Given the description of an element on the screen output the (x, y) to click on. 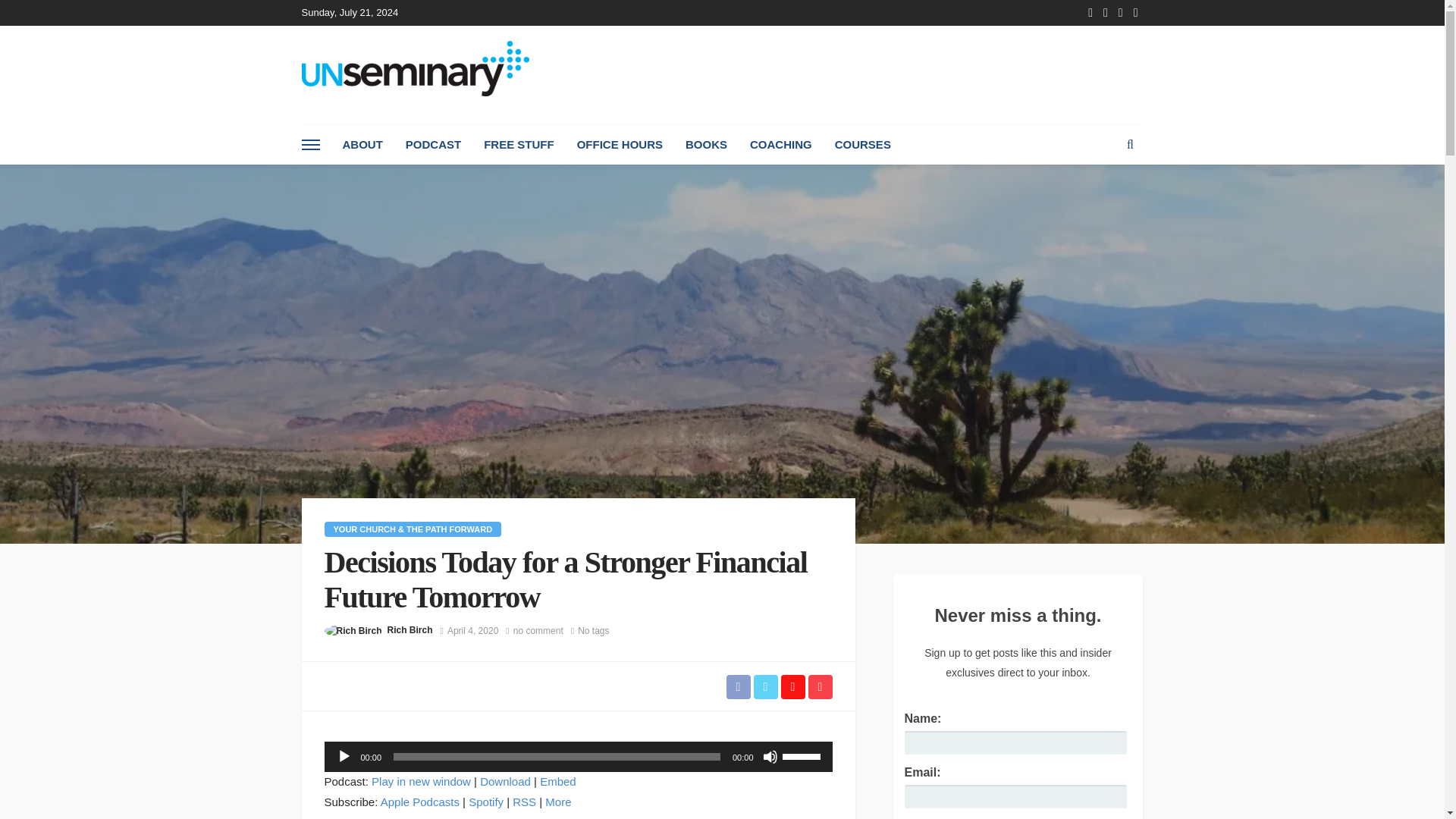
Subscribe on Apple Podcasts (420, 801)
no comment (538, 630)
Apple Podcasts (420, 801)
Play in new window (420, 780)
Embed (558, 780)
COURSES (863, 144)
Subscribe via RSS (523, 801)
Play (344, 756)
Subscribe on Spotify (485, 801)
Download (505, 780)
Decisions Today for a Stronger Financial Future Tomorrow (538, 630)
Spotify (485, 801)
Embed (558, 780)
RSS (523, 801)
Play in new window (420, 780)
